Given the description of an element on the screen output the (x, y) to click on. 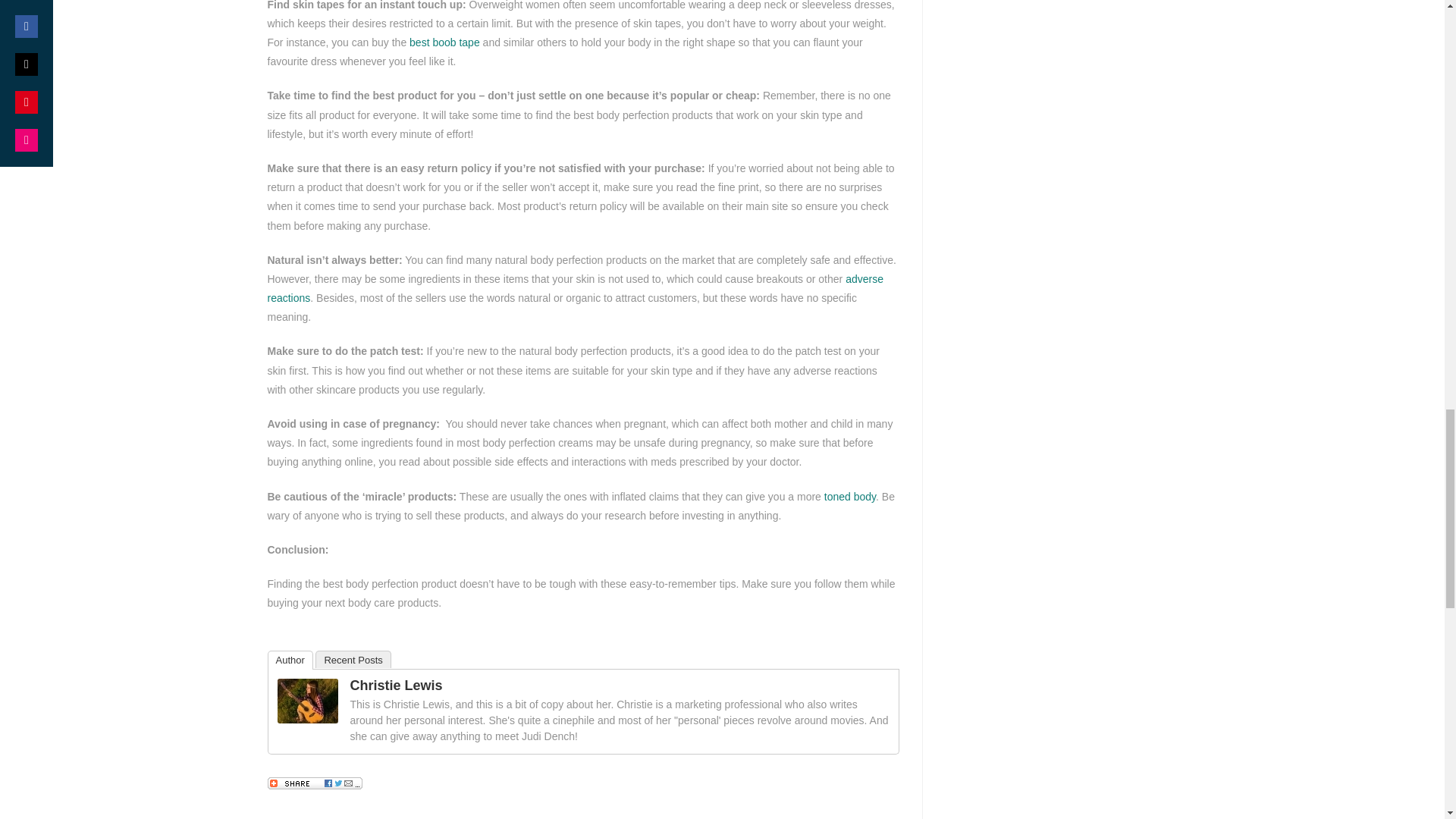
best boob tape (444, 42)
toned body (850, 496)
Christie Lewis (307, 699)
Author (289, 659)
adverse reactions (574, 287)
